Given the description of an element on the screen output the (x, y) to click on. 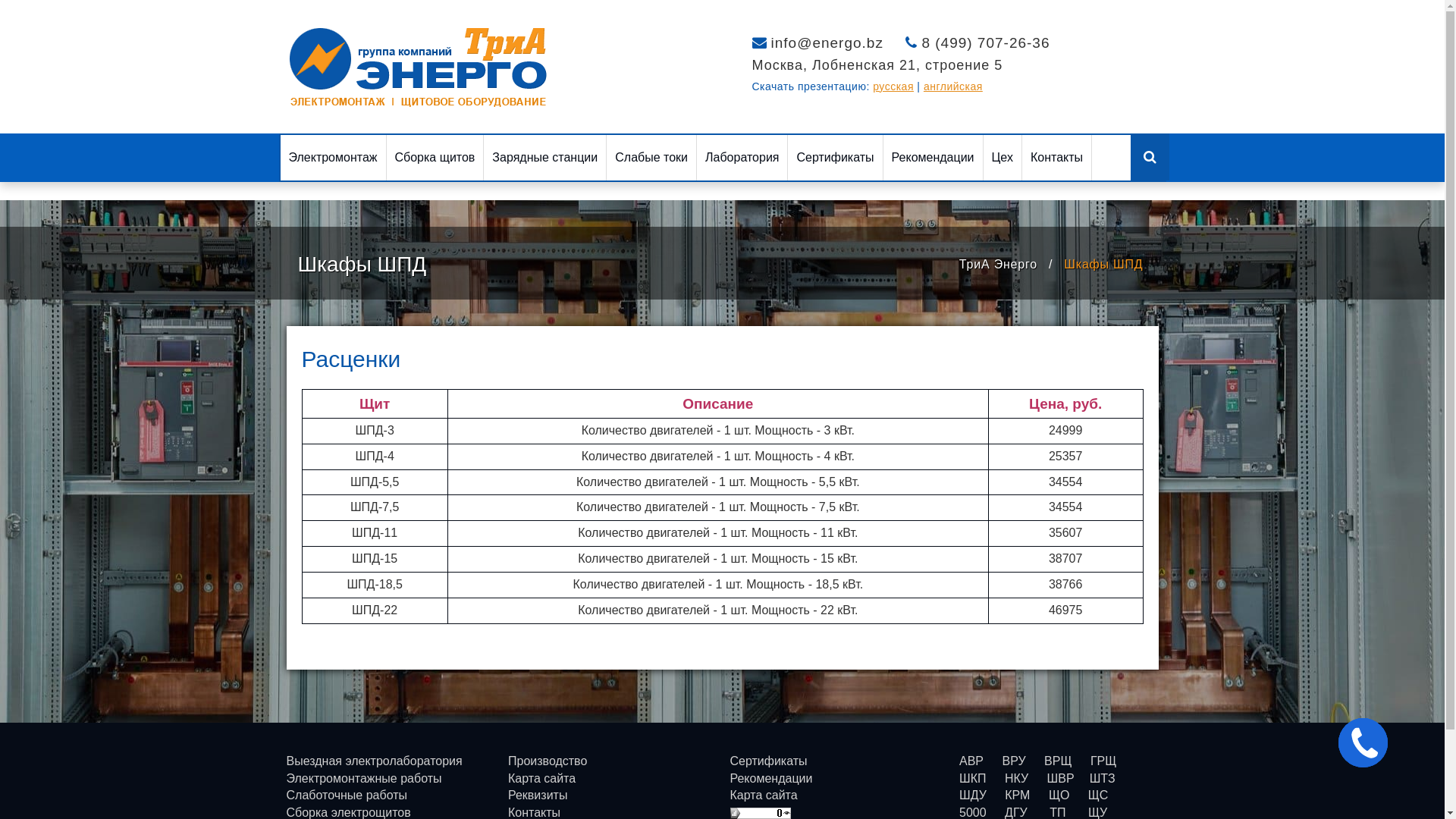
8 (499) 707-26-36 Element type: text (985, 42)
